Given the description of an element on the screen output the (x, y) to click on. 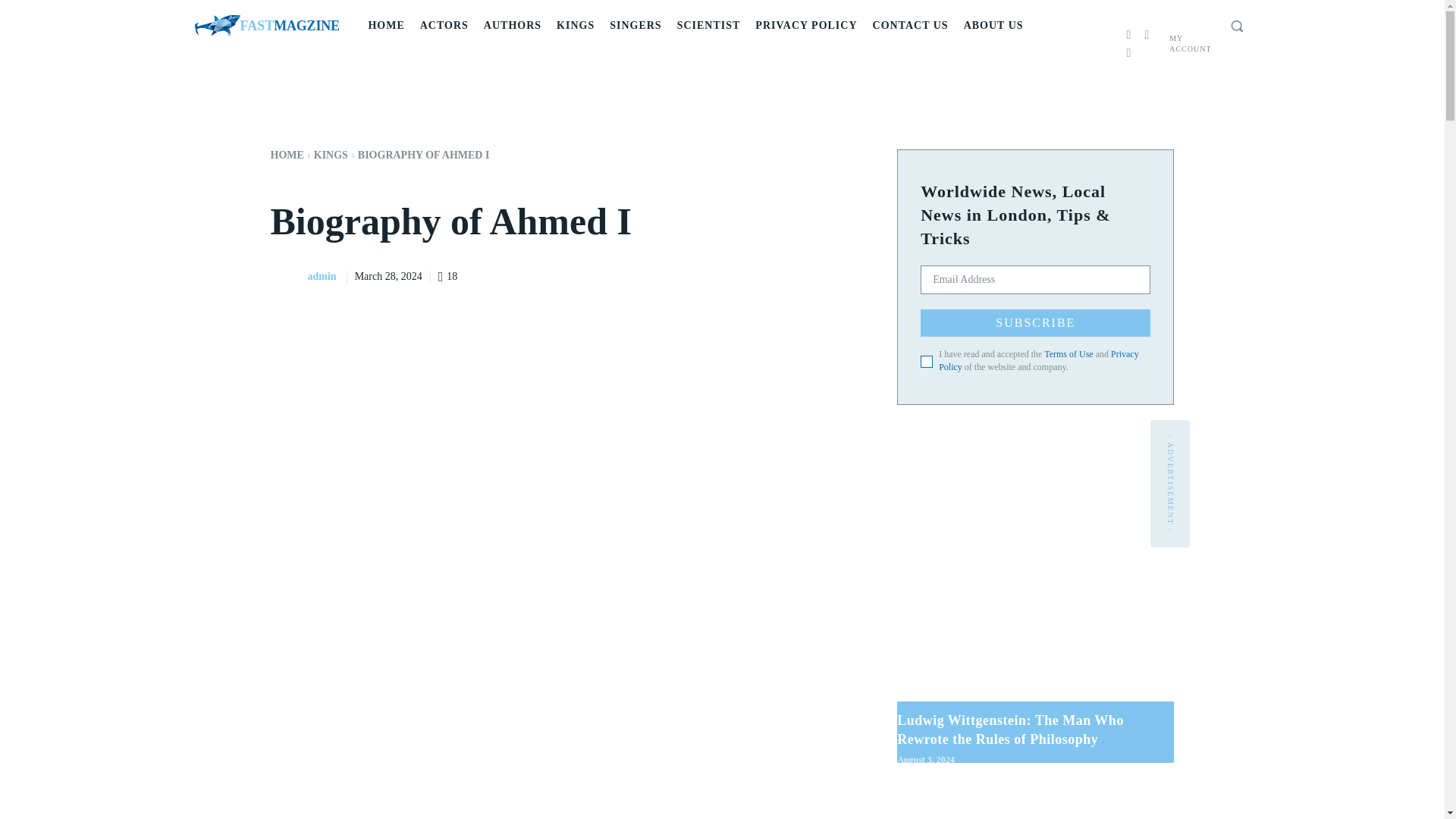
SINGERS (635, 25)
AUTHORS (512, 25)
CONTACT US (910, 25)
View all posts in Kings (330, 154)
KINGS (575, 25)
Twitter (1128, 53)
HOME (385, 25)
Facebook (1128, 34)
ABOUT US (266, 25)
admin (993, 25)
PRIVACY POLICY (286, 276)
Instagram (806, 25)
ACTORS (1146, 34)
SCIENTIST (444, 25)
